Given the description of an element on the screen output the (x, y) to click on. 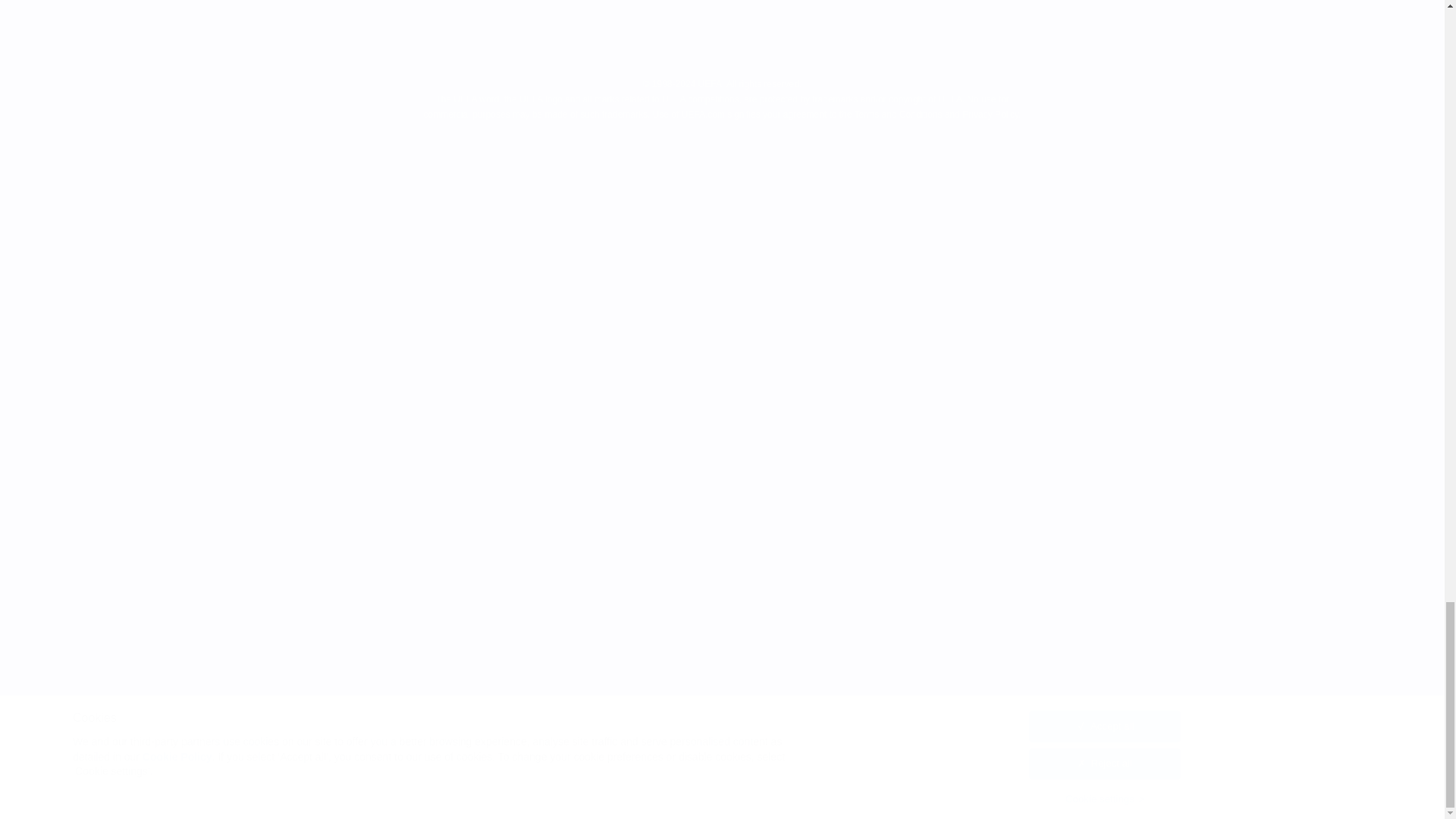
Cookie Settings (898, 43)
Privacy (525, 43)
Cookie policy (777, 43)
Terms and conditions (645, 43)
